Given the description of an element on the screen output the (x, y) to click on. 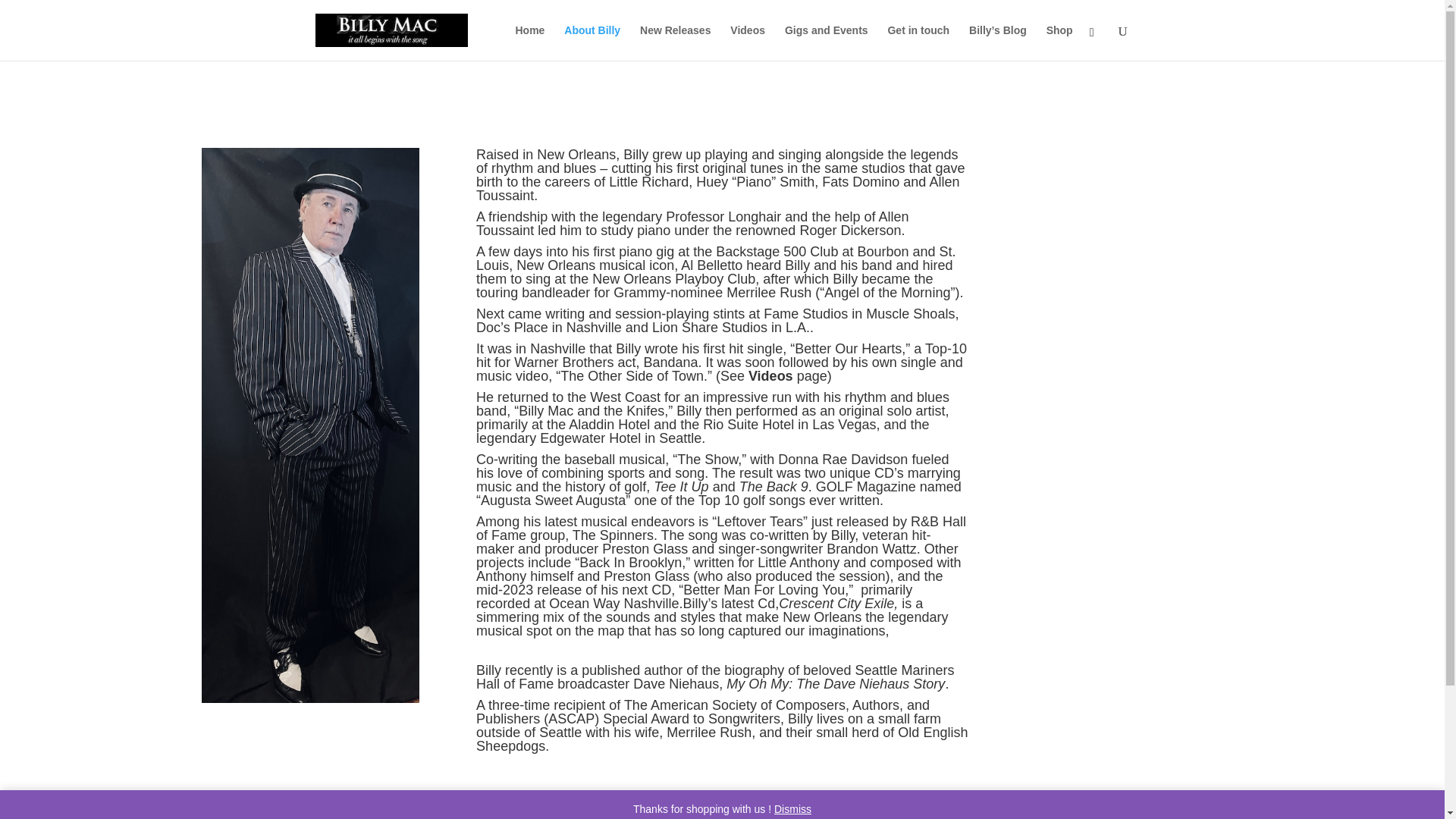
Get in touch (917, 42)
Dismiss (792, 808)
Videos (747, 42)
New Releases (675, 42)
About Billy (592, 42)
Gigs and Events (825, 42)
Videos (770, 376)
